Given the description of an element on the screen output the (x, y) to click on. 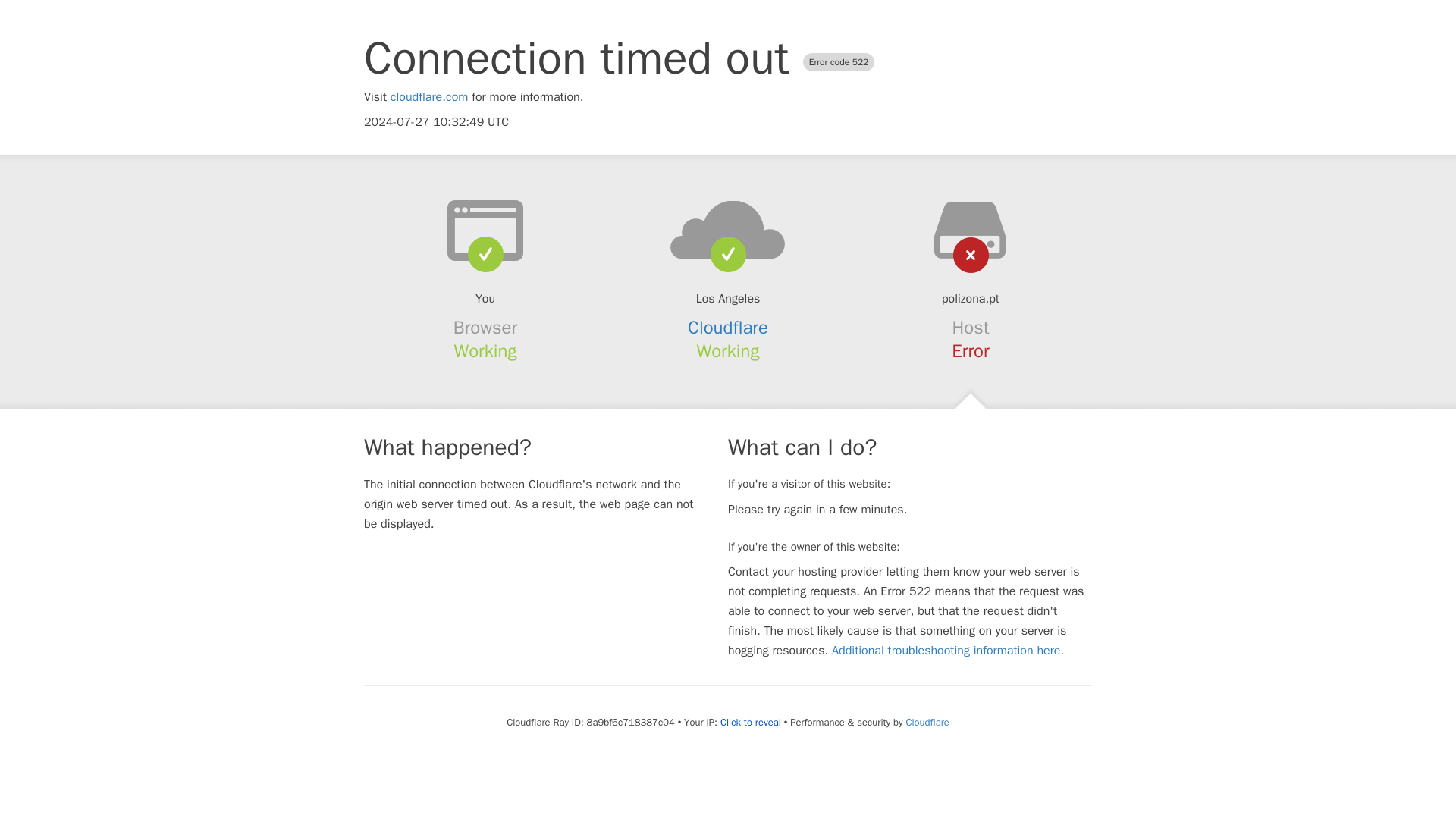
Cloudflare (927, 721)
Additional troubleshooting information here. (947, 650)
Click to reveal (750, 722)
cloudflare.com (429, 96)
Cloudflare (727, 327)
